Given the description of an element on the screen output the (x, y) to click on. 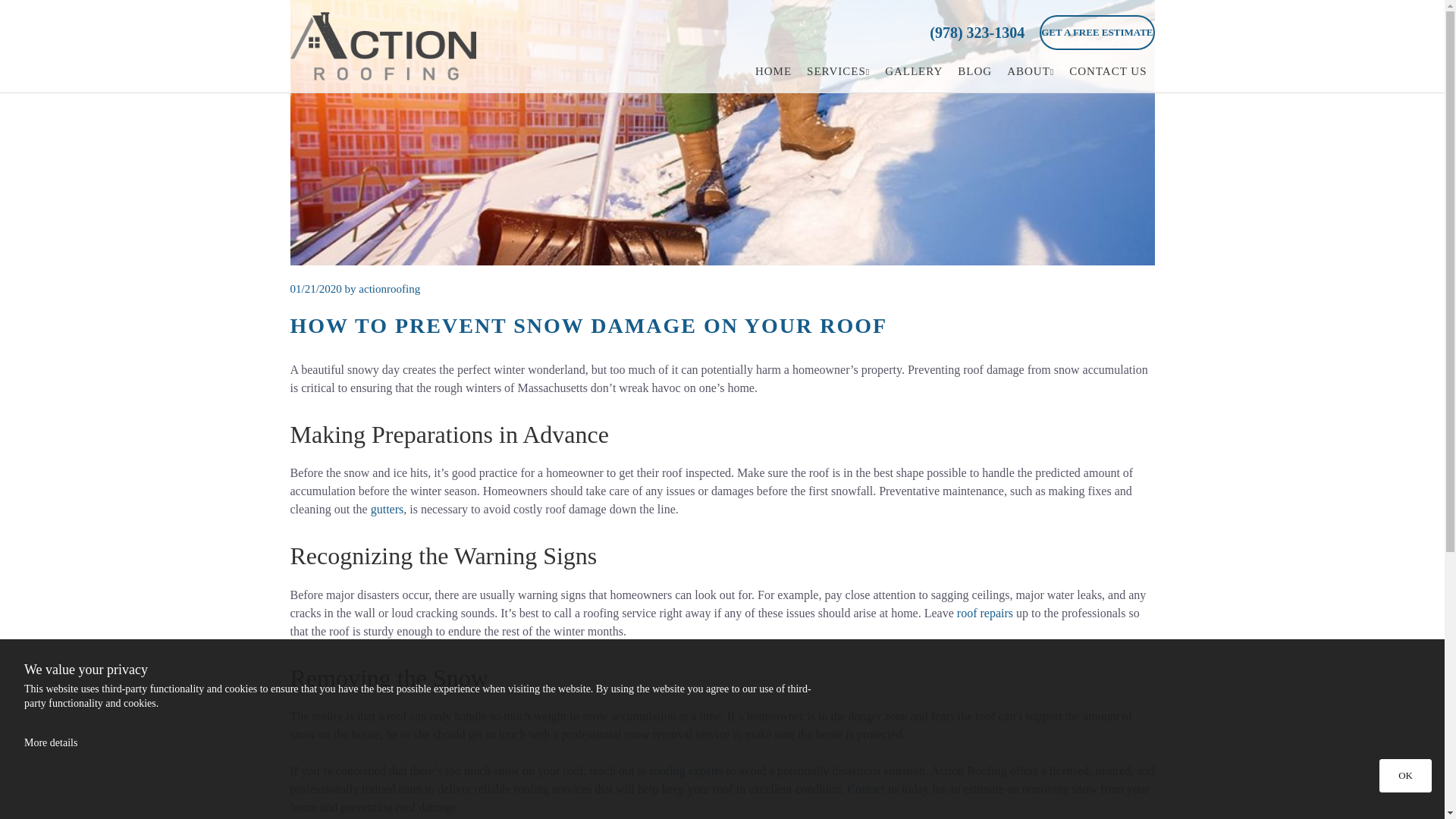
OK (1404, 775)
HOME (773, 70)
More details (50, 742)
Go to frontpage (389, 46)
ABOUT (1029, 70)
SERVICES (838, 70)
CONTACT US (1107, 70)
GET A FREE ESTIMATE (1096, 32)
gutters (387, 508)
roof repairs (984, 612)
BLOG (974, 70)
professional snow removal service (646, 734)
GALLERY (913, 70)
